Given the description of an element on the screen output the (x, y) to click on. 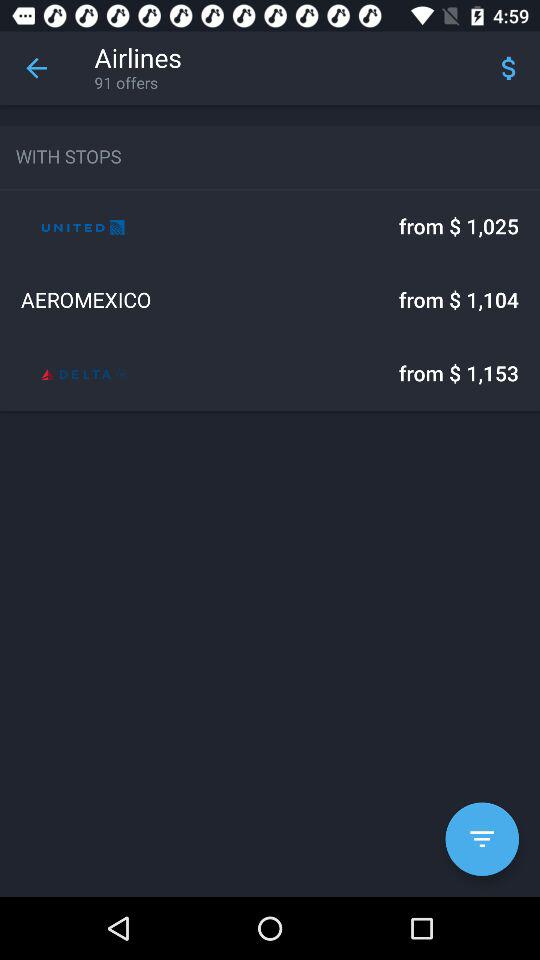
press the item above with stops item (36, 68)
